Given the description of an element on the screen output the (x, y) to click on. 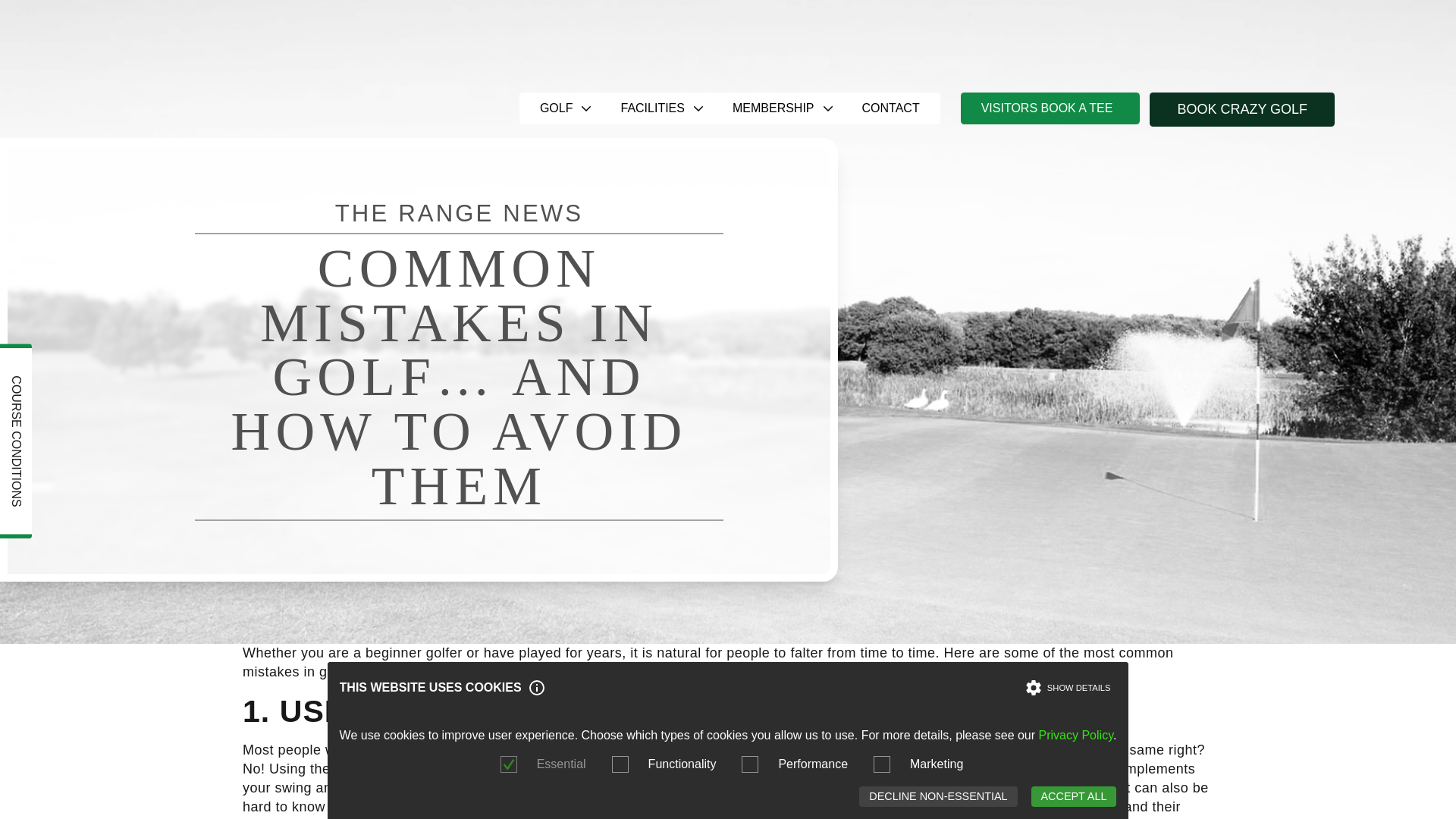
FACILITIES (655, 108)
GOLF (559, 108)
CONTACT (890, 108)
COURSE CONDITIONS (97, 359)
MEMBERSHIP (776, 108)
BOOK CRAZY GOLF (1242, 109)
VISITORS BOOK A TEE (1050, 108)
